Given the description of an element on the screen output the (x, y) to click on. 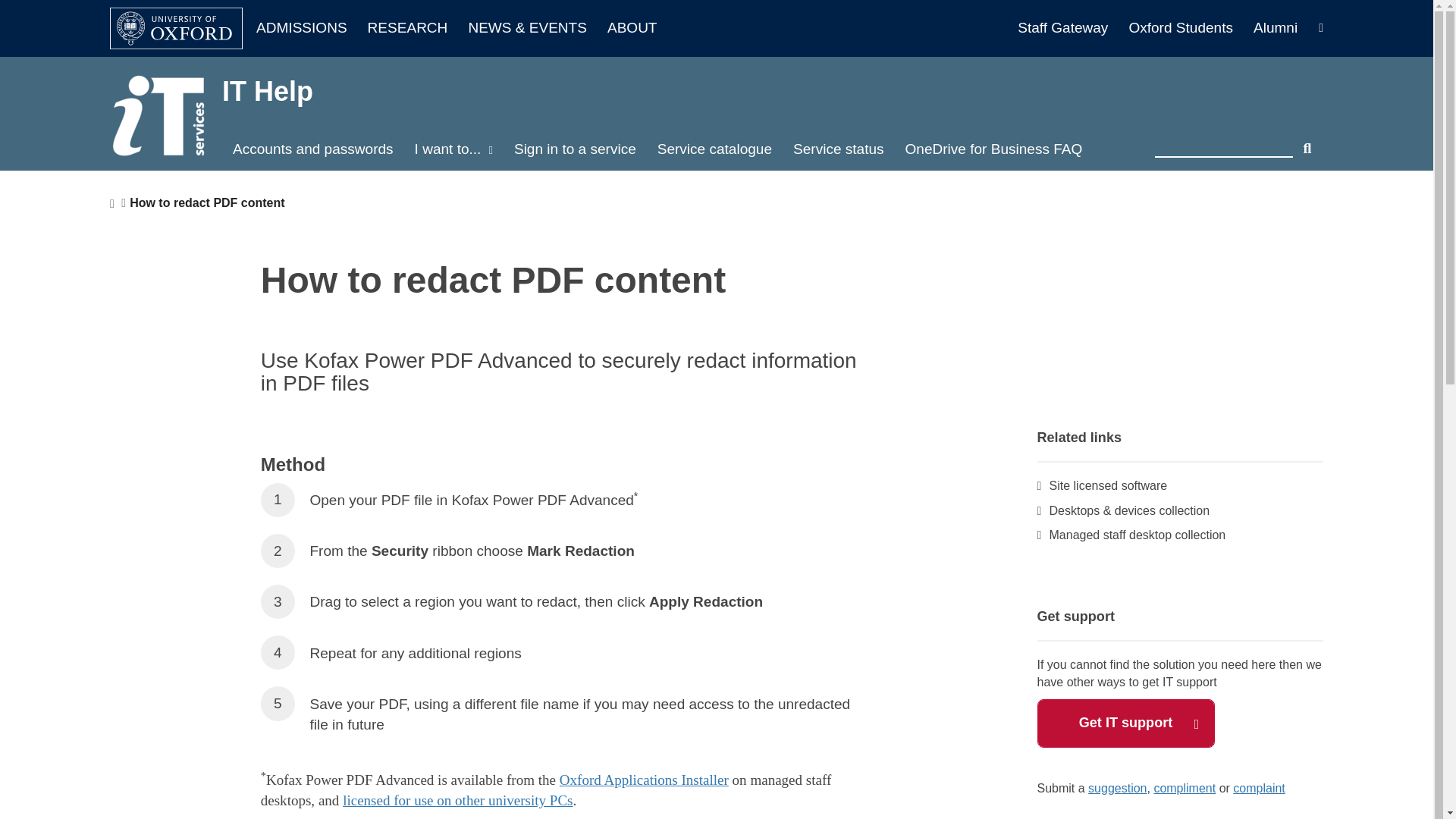
Staff Gateway (1069, 28)
RESEARCH (415, 28)
Accounts and passwords (313, 148)
IT Help (267, 91)
Oxford Students (1187, 28)
Alumni (1275, 28)
ABOUT (632, 28)
RESEARCH (415, 28)
Staff Gateway (1069, 28)
ABOUT (632, 28)
